Given the description of an element on the screen output the (x, y) to click on. 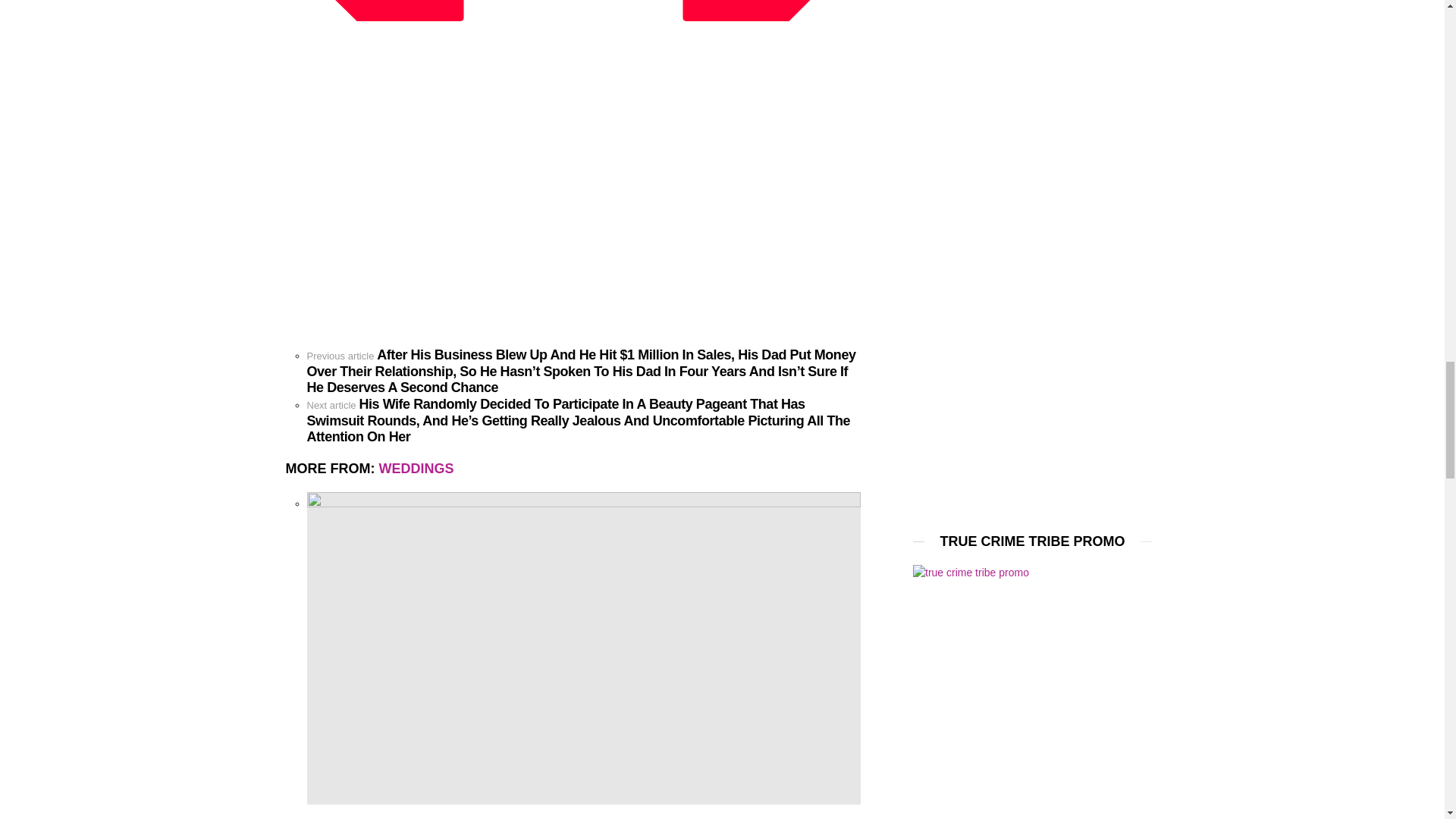
PREV (392, 10)
NEXT (753, 10)
